Given the description of an element on the screen output the (x, y) to click on. 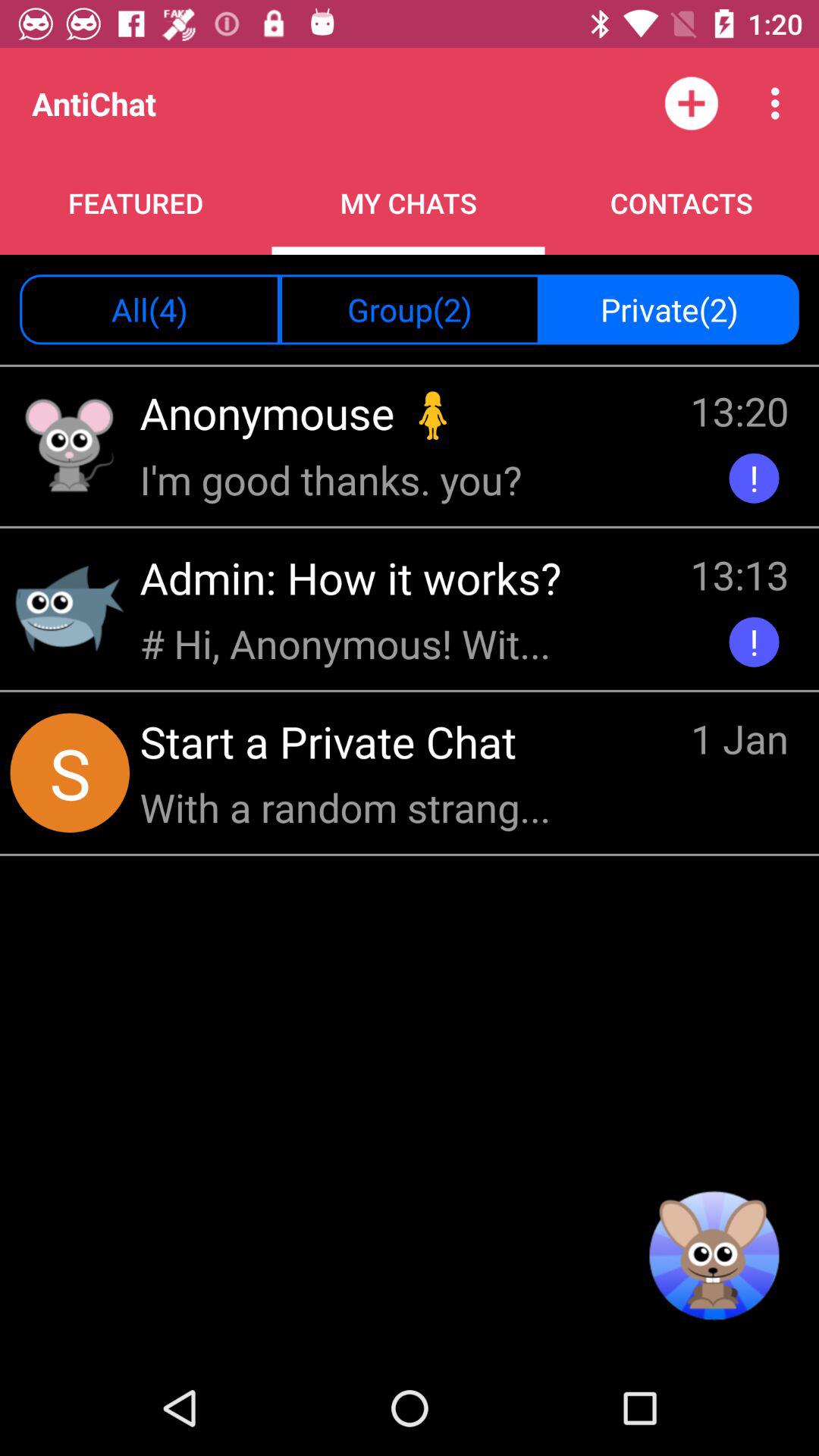
select item to the left of the start a private item (69, 772)
